Given the description of an element on the screen output the (x, y) to click on. 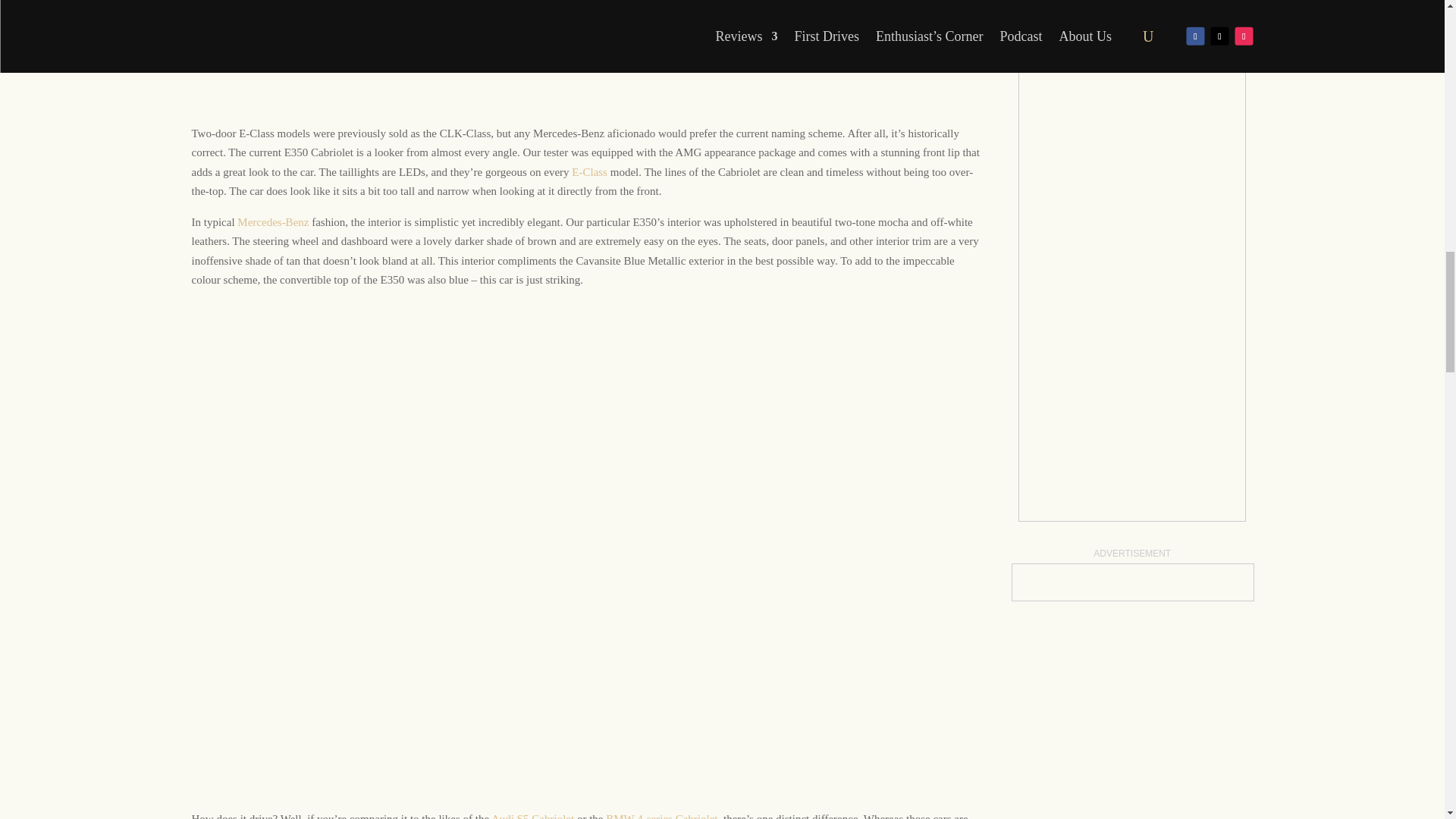
2014 Mercedes-Benz B250 (272, 222)
2014 BMW 428i Cabriolet (661, 816)
2014 Audi RS5 Cabriolet (532, 816)
2014 Mercedes-Benz E350 Coupe (589, 172)
